Given the description of an element on the screen output the (x, y) to click on. 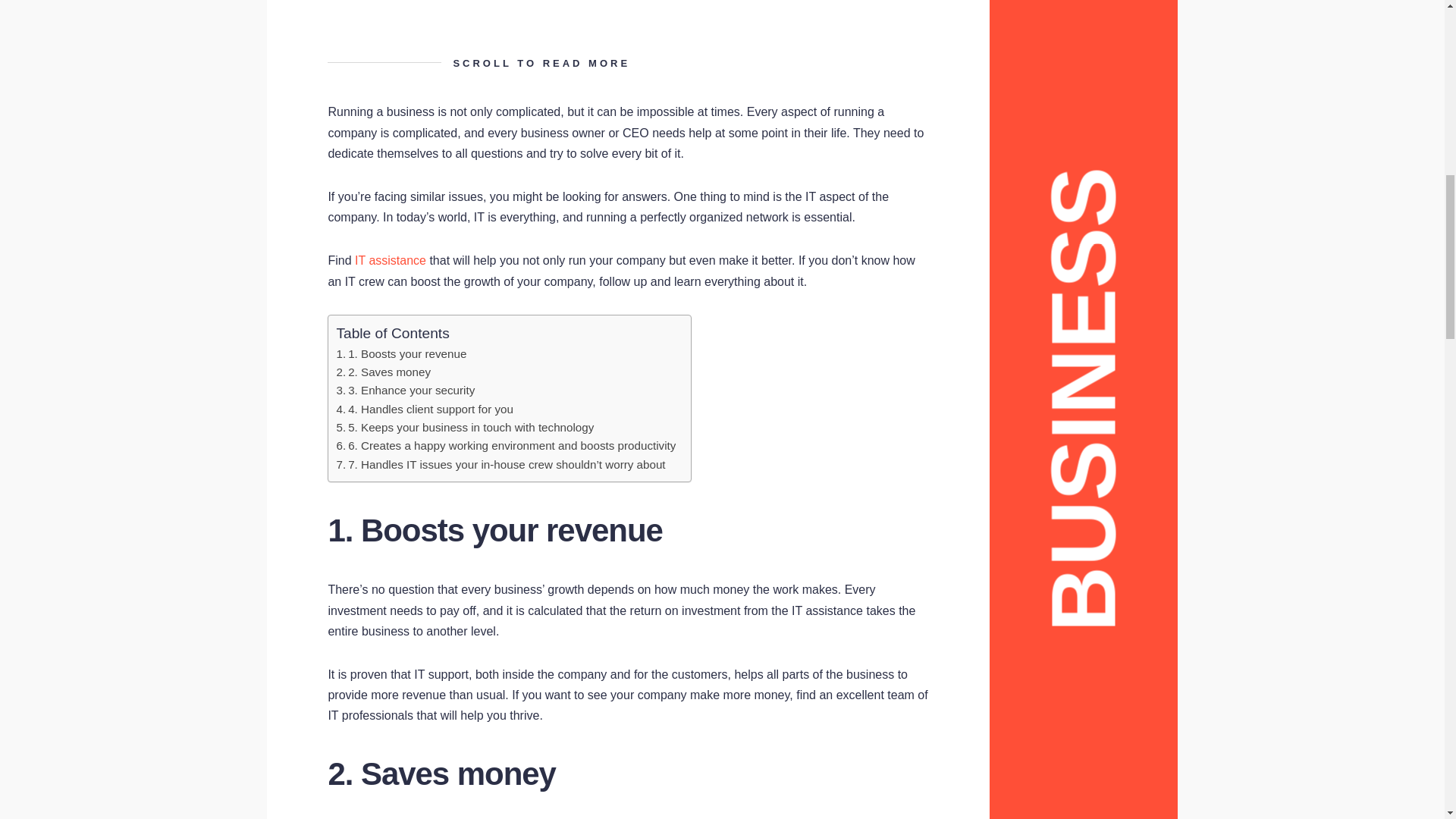
4. Handles client support for you (430, 408)
3. Enhance your security (410, 390)
1. Boosts your revenue (406, 353)
SCROLL TO READ MORE (627, 63)
2. Saves money (388, 371)
3. Enhance your security (410, 390)
1. Boosts your revenue (406, 353)
5. Keeps your business in touch with technology (470, 427)
2. Saves money (388, 371)
4. Handles client support for you (430, 408)
5. Keeps your business in touch with technology (470, 427)
IT assistance (390, 259)
